Given the description of an element on the screen output the (x, y) to click on. 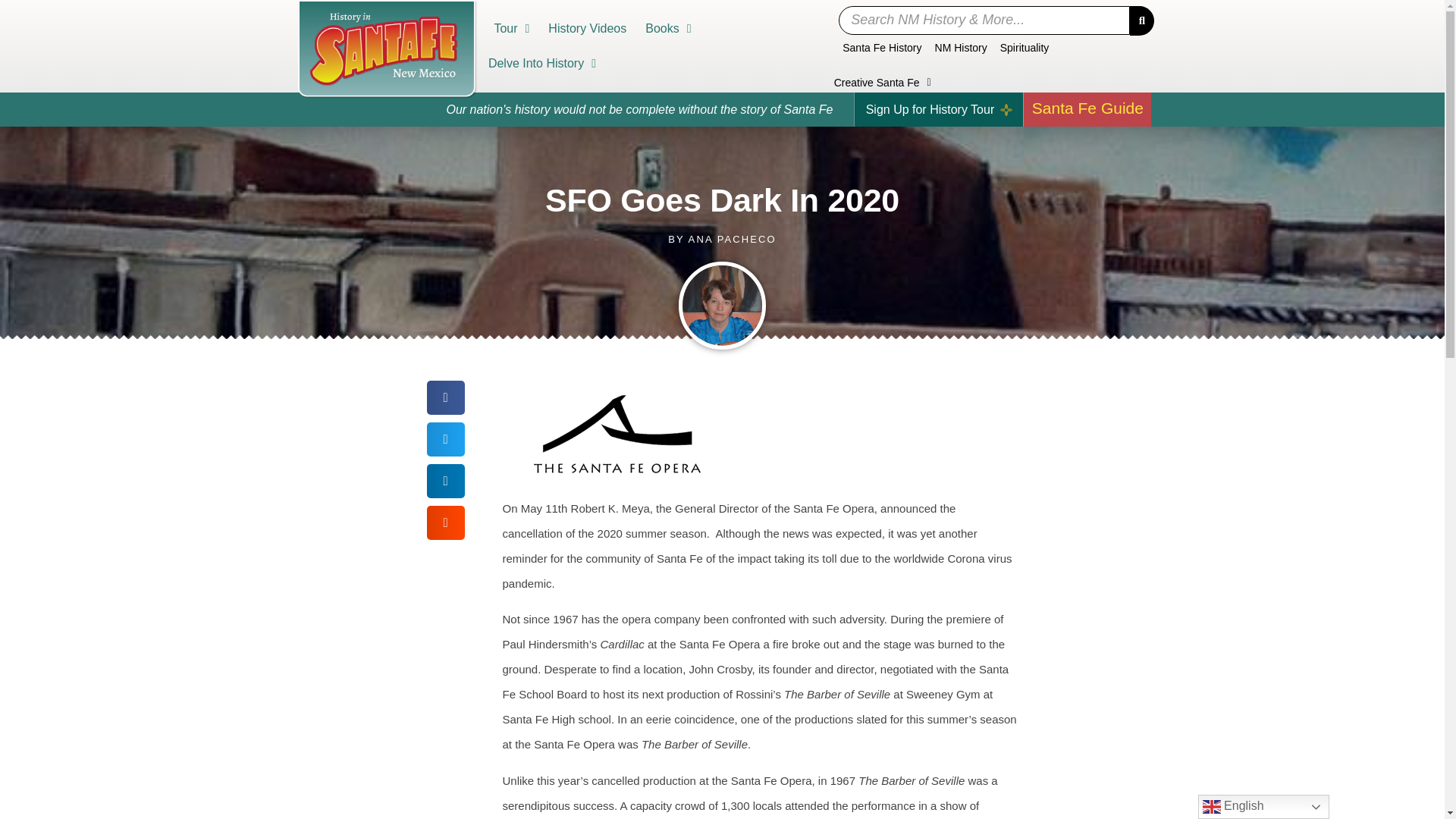
Books (668, 28)
History Videos (587, 28)
Creative Santa Fe (882, 82)
Santa Fe History (881, 47)
NM History (961, 47)
Spirituality (1024, 47)
Delve Into History (542, 63)
Tour (511, 28)
